Given the description of an element on the screen output the (x, y) to click on. 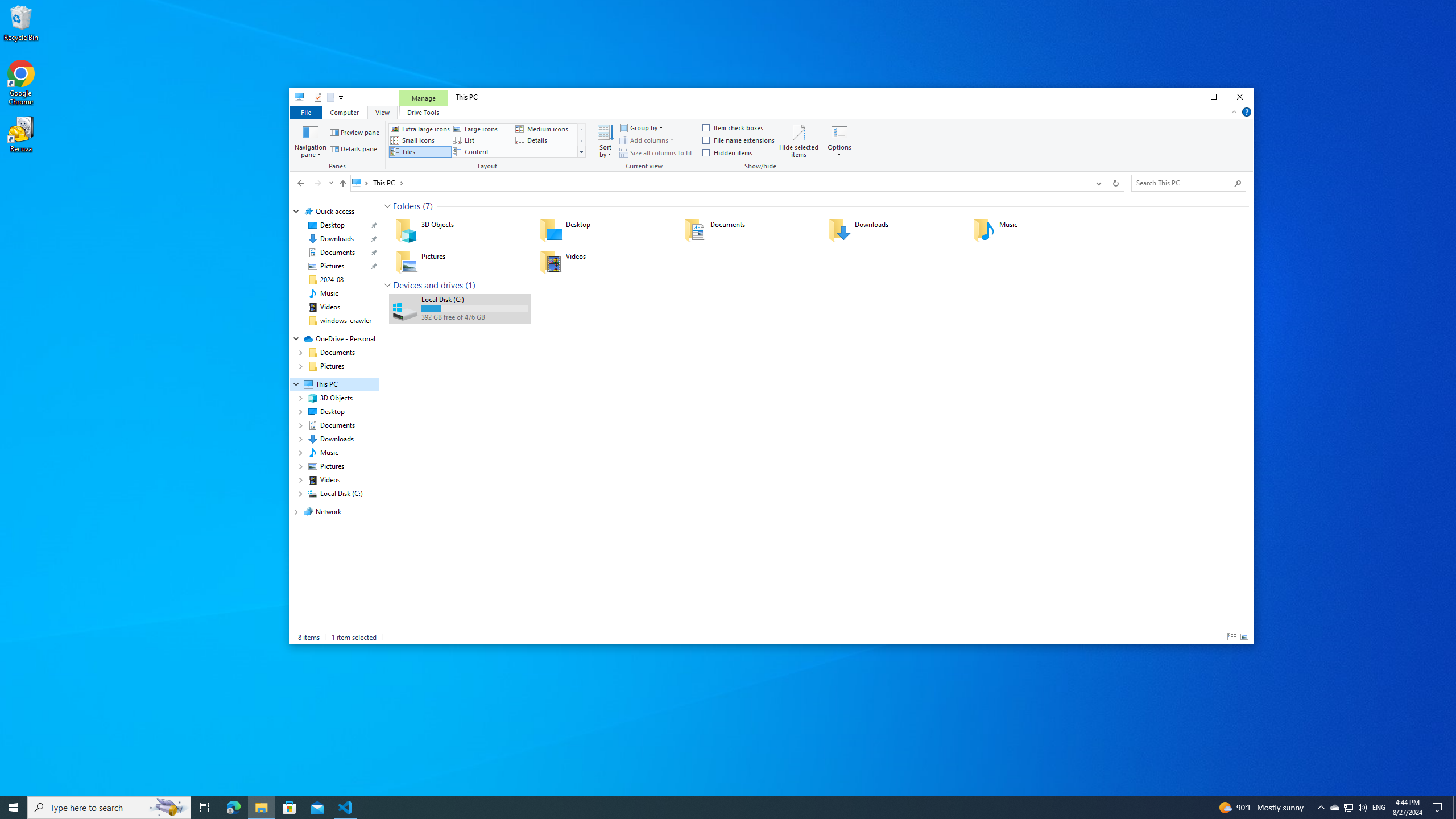
Recent locations (330, 182)
Minimize (1187, 96)
Row down (580, 140)
Hide selected items (798, 140)
Documents (748, 229)
Properties (317, 96)
Large icons (482, 129)
Videos (329, 306)
Group by (641, 128)
Downloads (pinned) (336, 238)
